Given the description of an element on the screen output the (x, y) to click on. 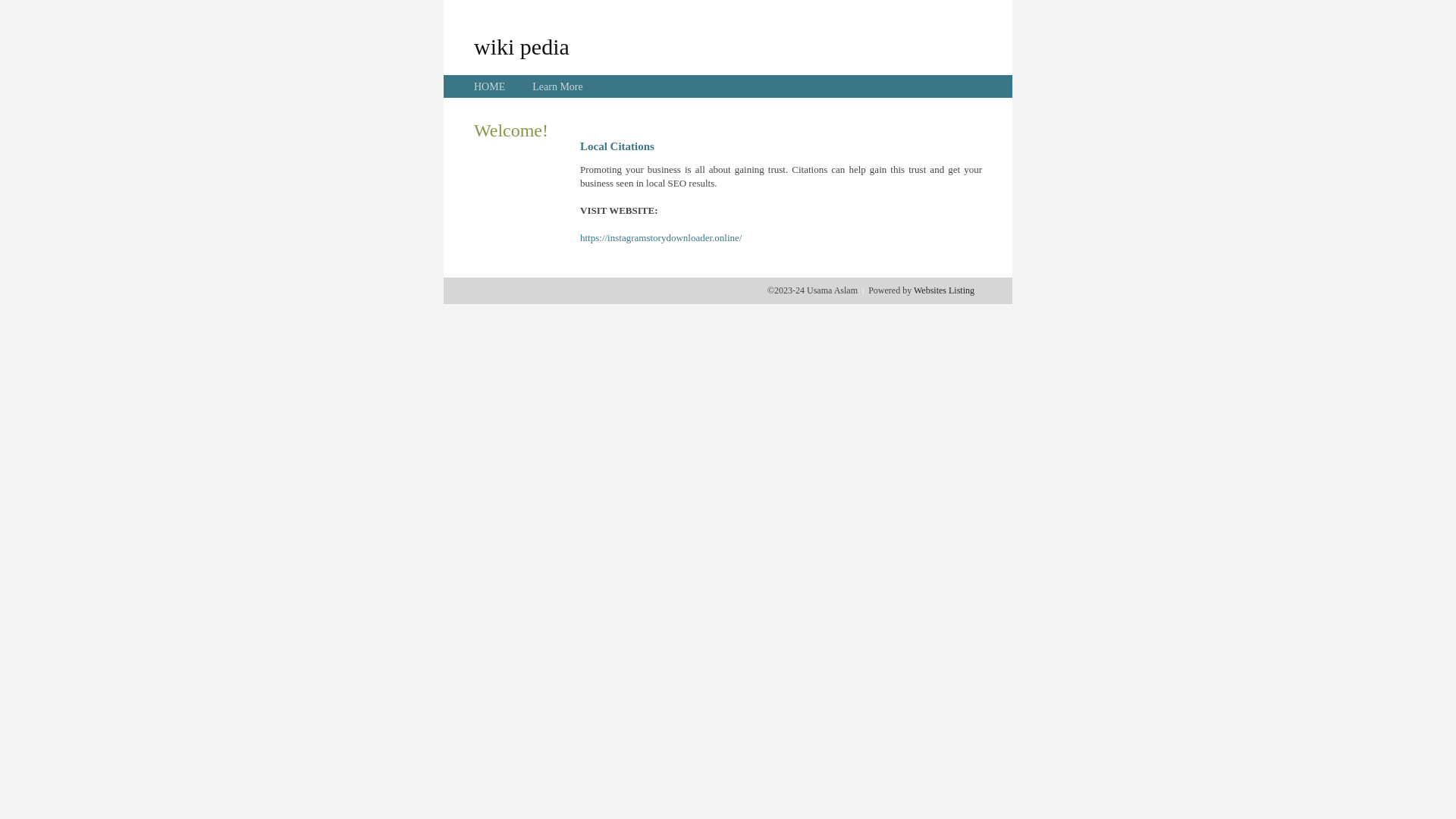
https://instagramstorydownloader.online/ Element type: text (660, 237)
Websites Listing Element type: text (943, 290)
wiki pedia Element type: text (521, 46)
HOME Element type: text (489, 86)
Learn More Element type: text (557, 86)
